Given the description of an element on the screen output the (x, y) to click on. 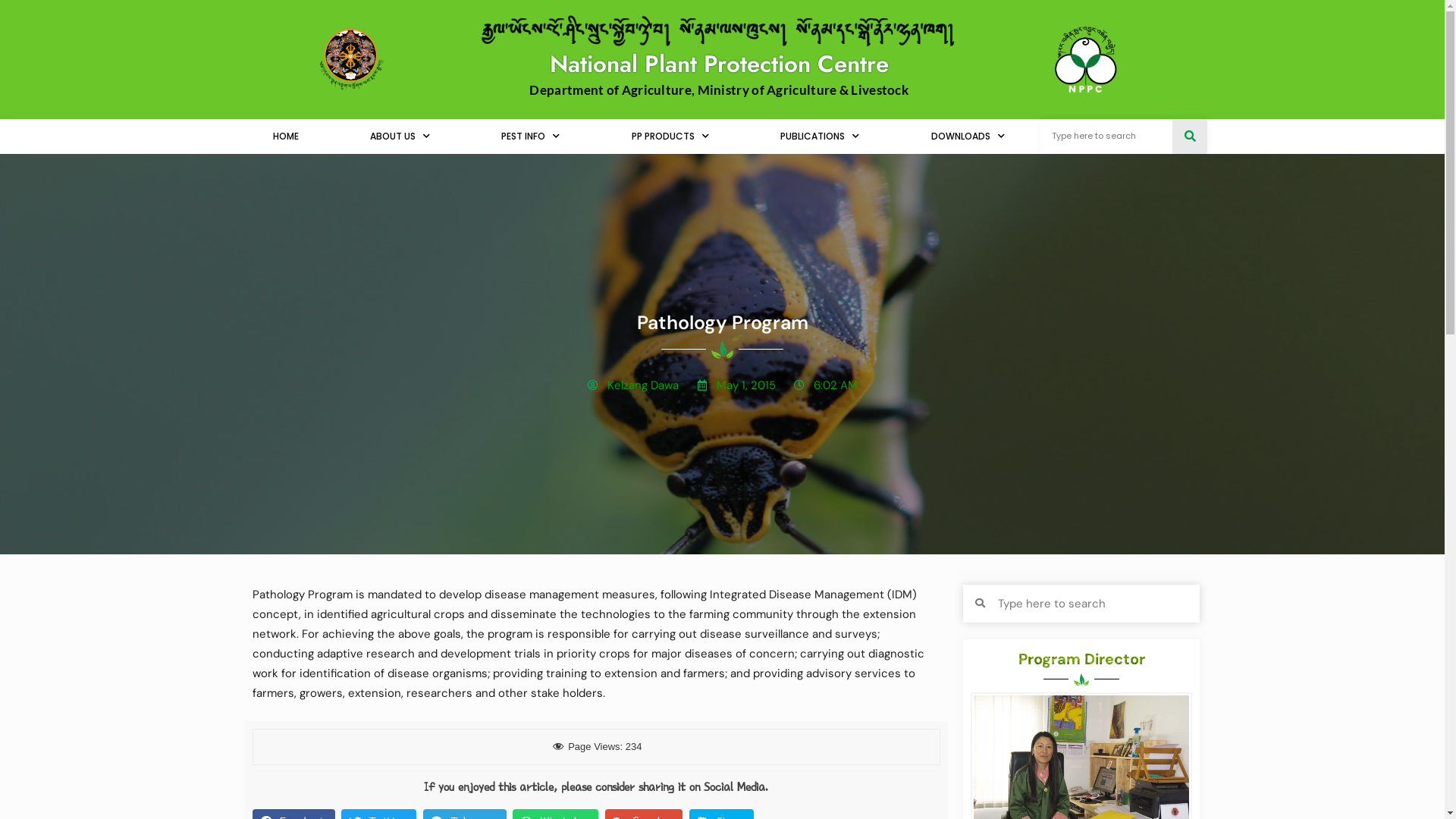
Search Element type: hover (1106, 136)
Kelzang Dawa Element type: text (631, 385)
PUBLICATIONS Element type: text (819, 136)
PP PRODUCTS Element type: text (670, 136)
DOWNLOADS Element type: text (966, 136)
May 1, 2015 Element type: text (735, 385)
HOME Element type: text (284, 136)
PEST INFO Element type: text (530, 136)
ABOUT US Element type: text (399, 136)
Search Element type: hover (1189, 136)
Search Element type: hover (1092, 603)
